Given the description of an element on the screen output the (x, y) to click on. 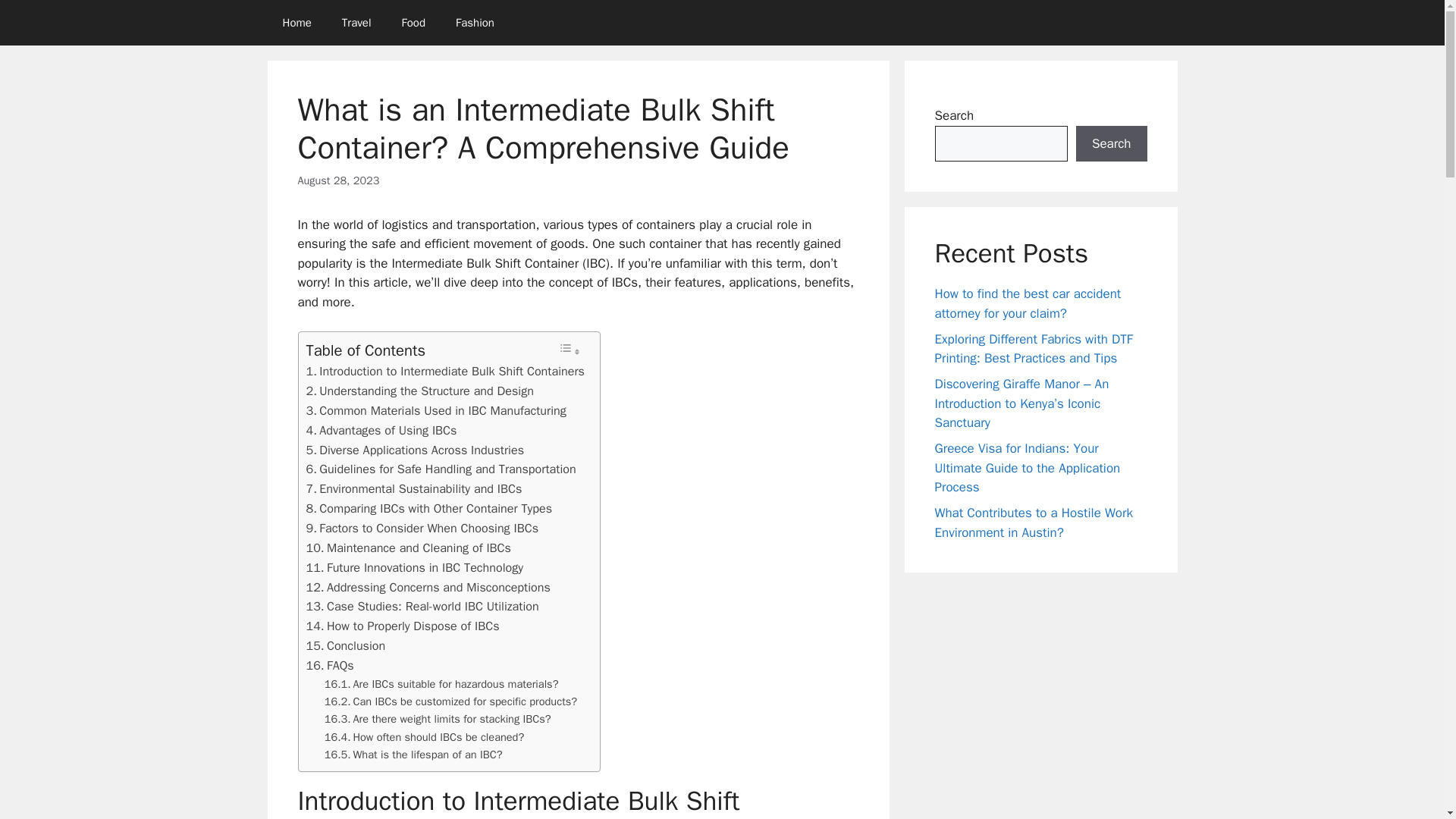
Diverse Applications Across Industries (414, 450)
Case Studies: Real-world IBC Utilization (421, 606)
Understanding the Structure and Design (419, 391)
Factors to Consider When Choosing IBCs (421, 528)
Conclusion (345, 646)
Factors to Consider When Choosing IBCs (421, 528)
Advantages of Using IBCs (381, 430)
Comparing IBCs with Other Container Types (429, 508)
How to Properly Dispose of IBCs (402, 626)
What is the lifespan of an IBC? (413, 754)
Search (1111, 144)
Addressing Concerns and Misconceptions (427, 587)
Maintenance and Cleaning of IBCs (408, 547)
How to Properly Dispose of IBCs (402, 626)
